Given the description of an element on the screen output the (x, y) to click on. 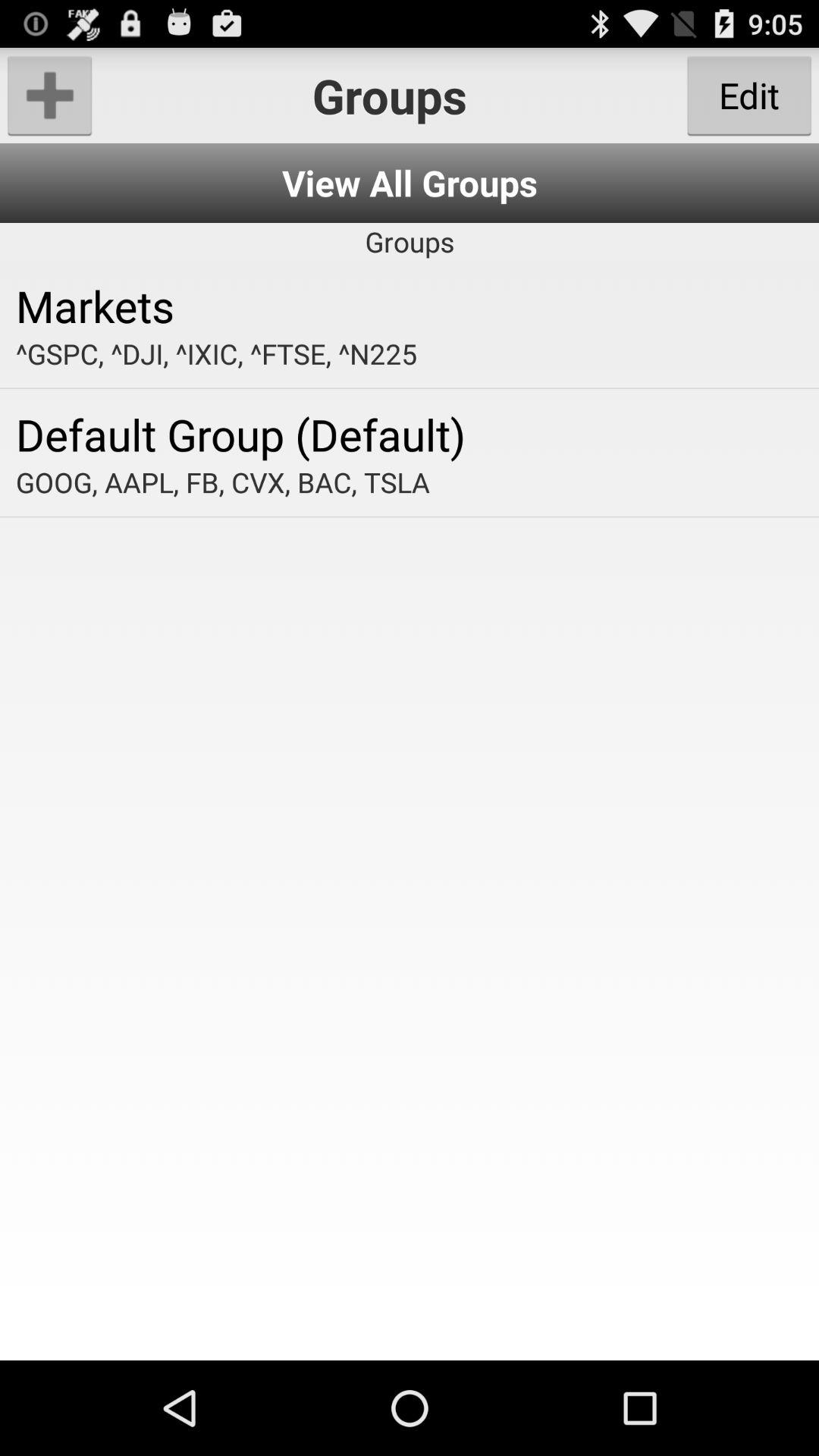
launch edit at the top right corner (749, 95)
